Given the description of an element on the screen output the (x, y) to click on. 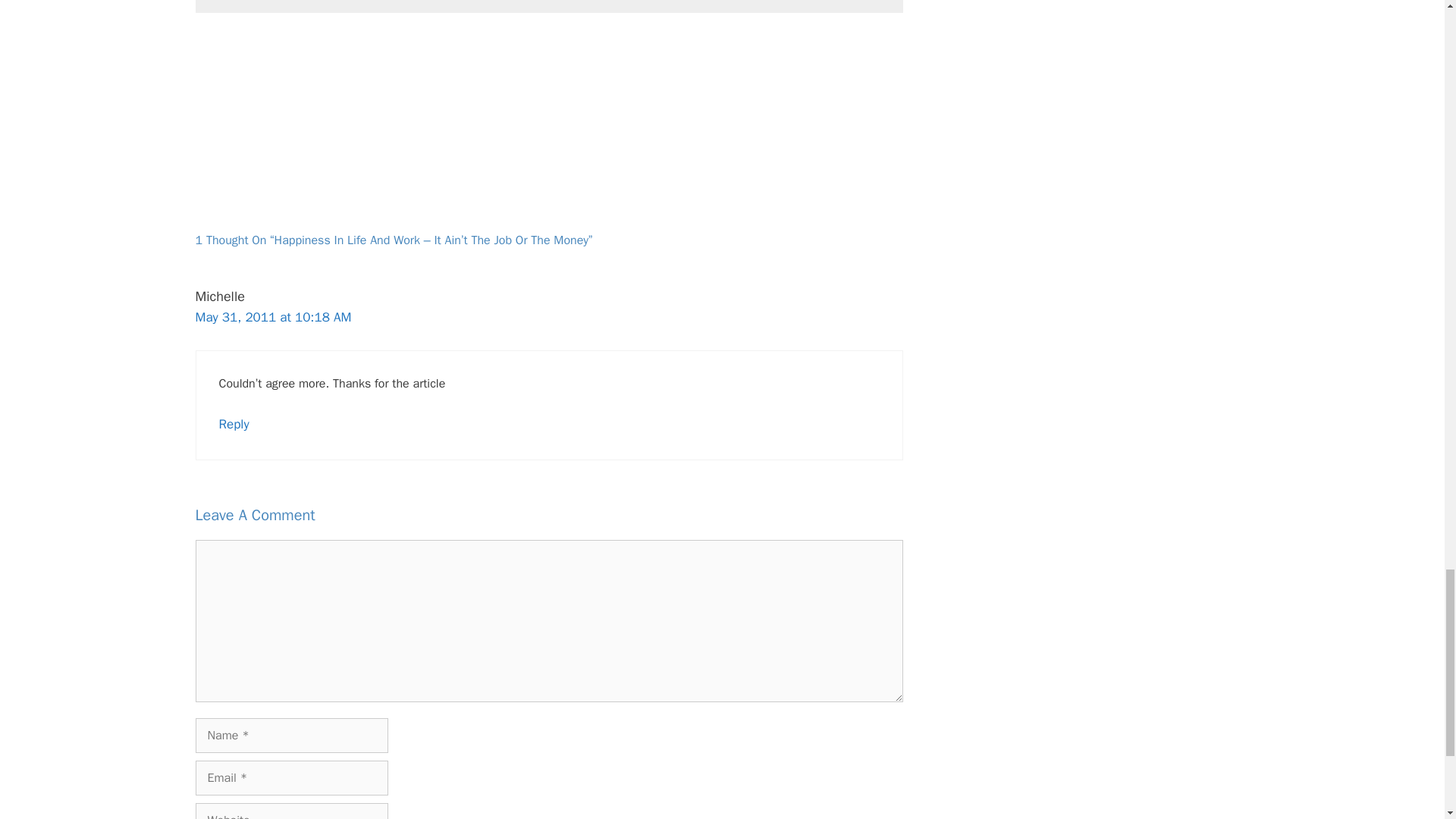
Facebook (482, 0)
Subscribe via email (282, 0)
Twitter (544, 0)
YouTube (617, 0)
May 31, 2011 at 10:18 AM (273, 317)
Reply (233, 424)
